Given the description of an element on the screen output the (x, y) to click on. 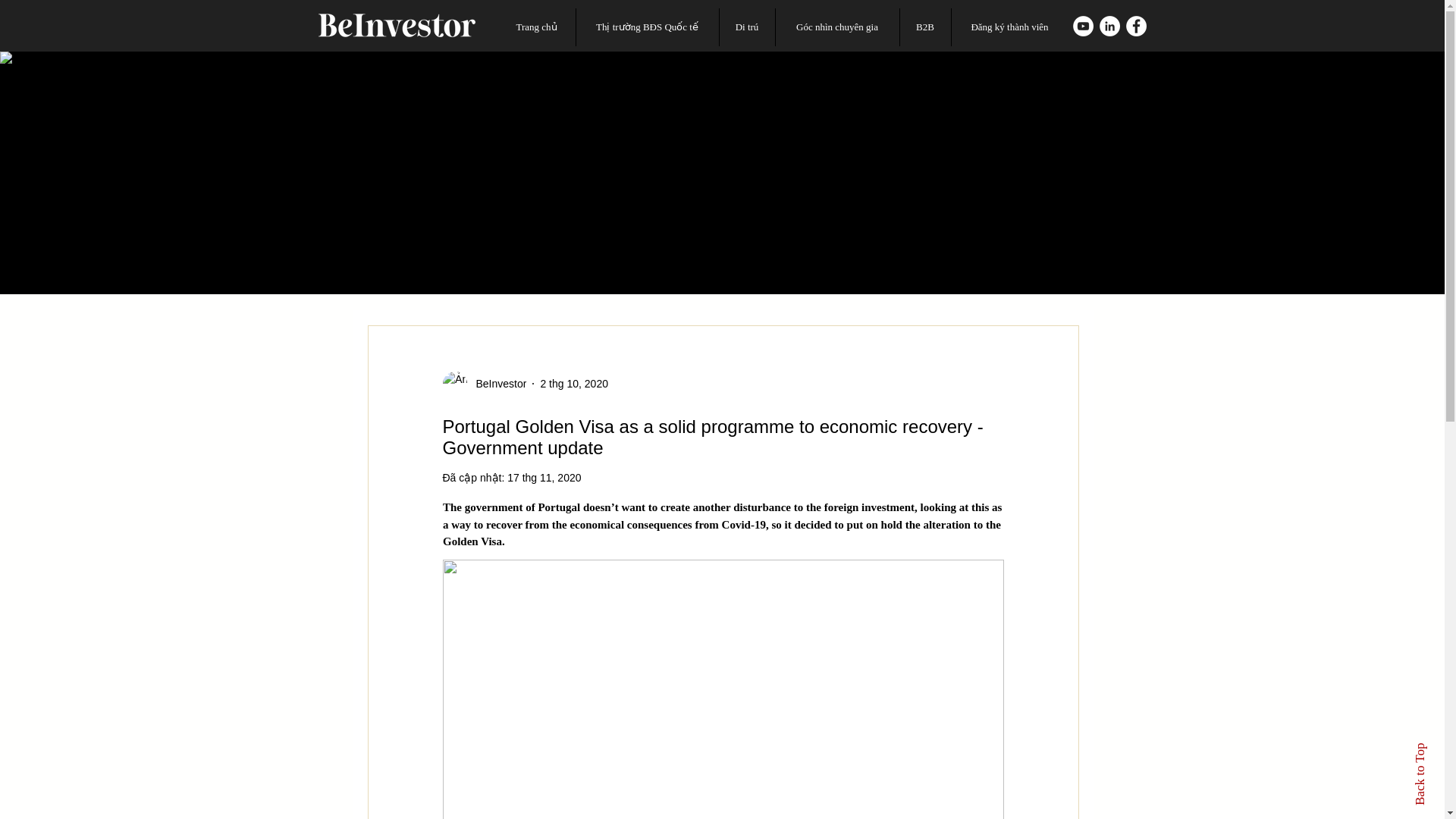
BeInvestor (484, 383)
BeInvestor (497, 383)
17 thg 11, 2020 (543, 477)
B2B (924, 26)
2 thg 10, 2020 (574, 383)
